Given the description of an element on the screen output the (x, y) to click on. 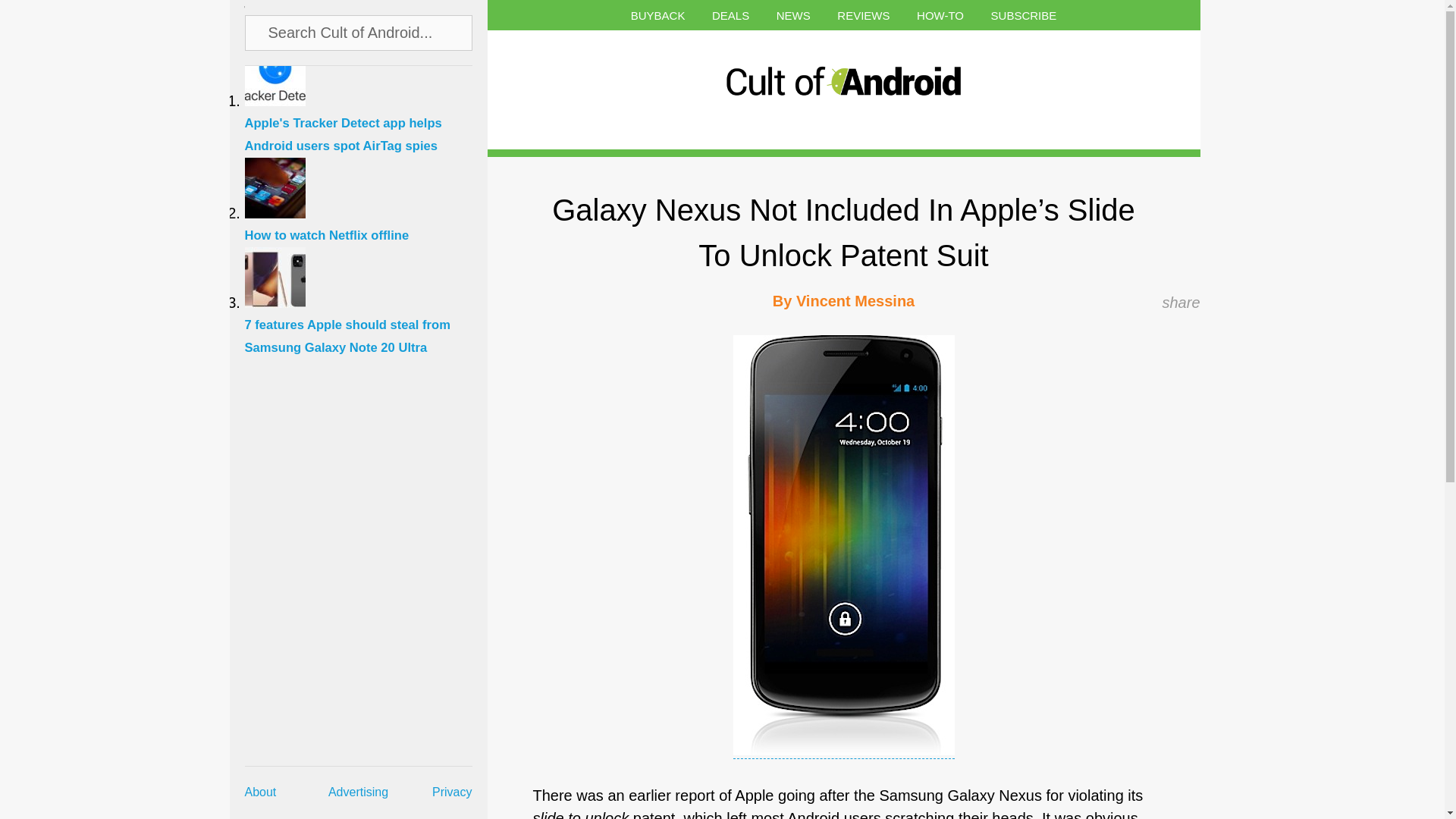
DEALS (730, 15)
REVIEWS (863, 15)
HOW-TO (940, 15)
How to watch Netflix offline (365, 225)
BUYBACK (657, 15)
Search Cult of Android... (358, 32)
Privacy (451, 791)
Posts by Vincent Messina (855, 300)
Advertising (358, 791)
share (1180, 302)
About (260, 791)
Vincent Messina (855, 300)
NEWS (793, 15)
